Given the description of an element on the screen output the (x, y) to click on. 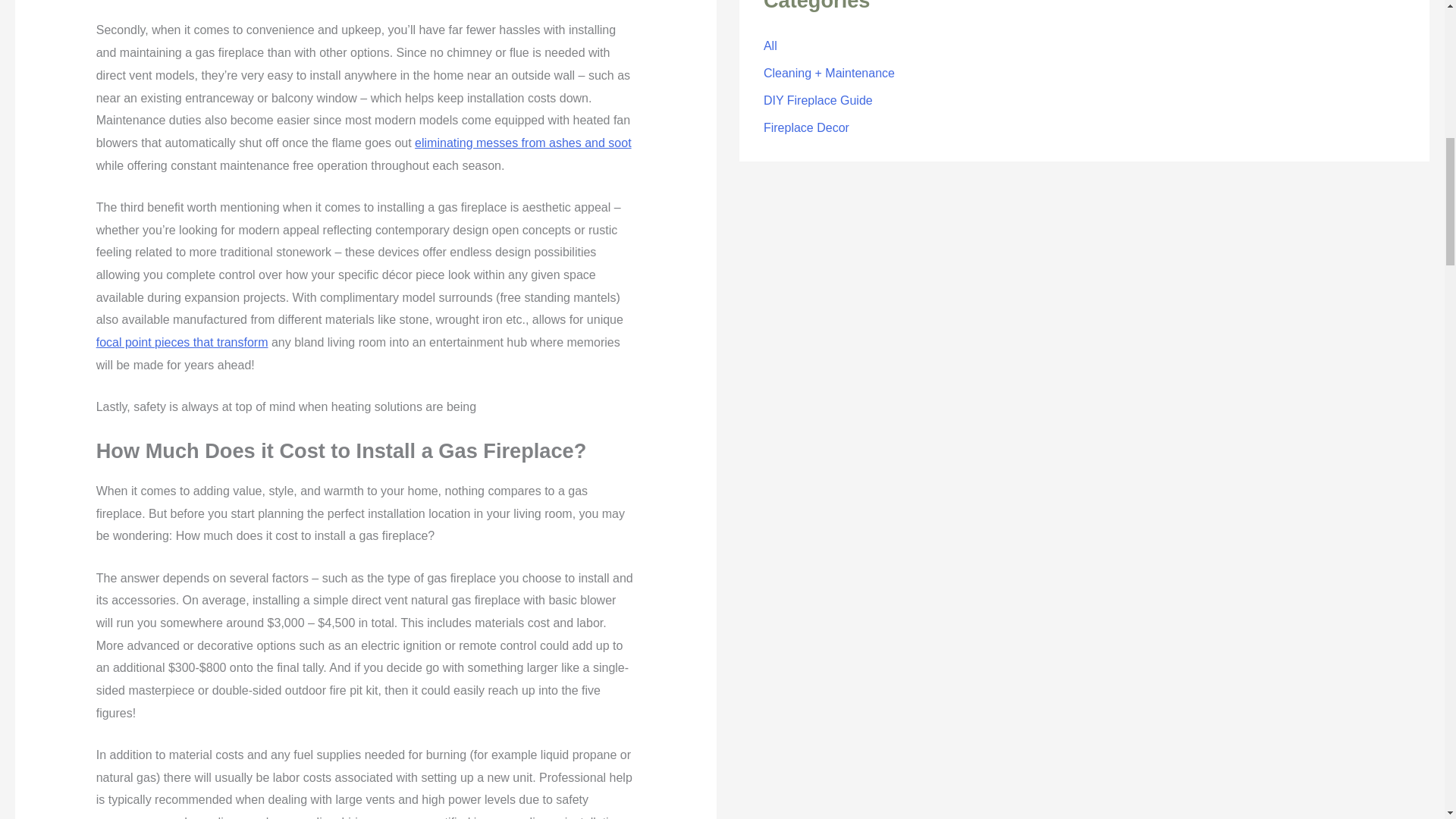
eliminating messes from ashes and soot (522, 142)
focal point pieces that transform (181, 341)
